Given the description of an element on the screen output the (x, y) to click on. 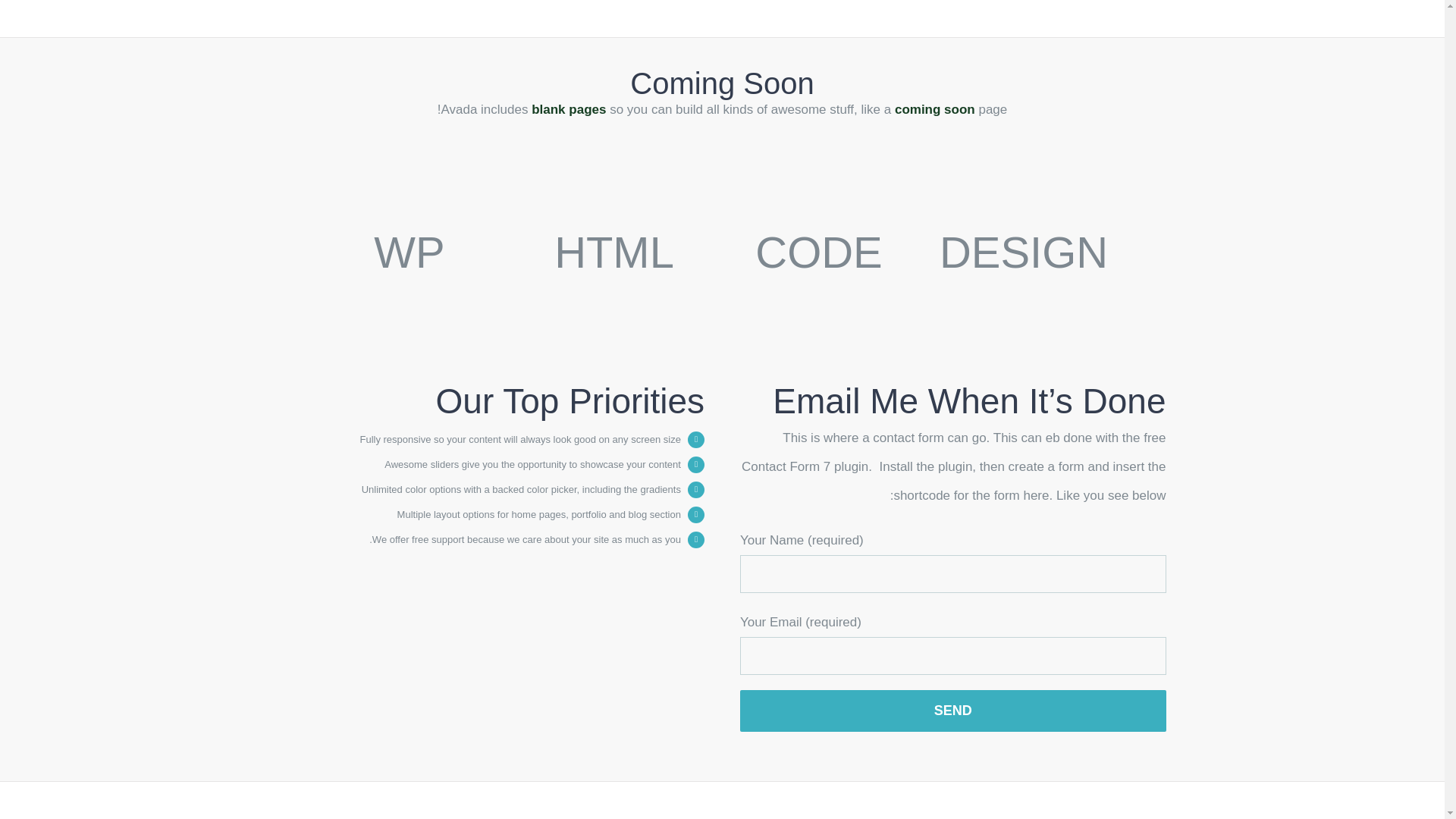
Send (952, 711)
Send (952, 711)
